Given the description of an element on the screen output the (x, y) to click on. 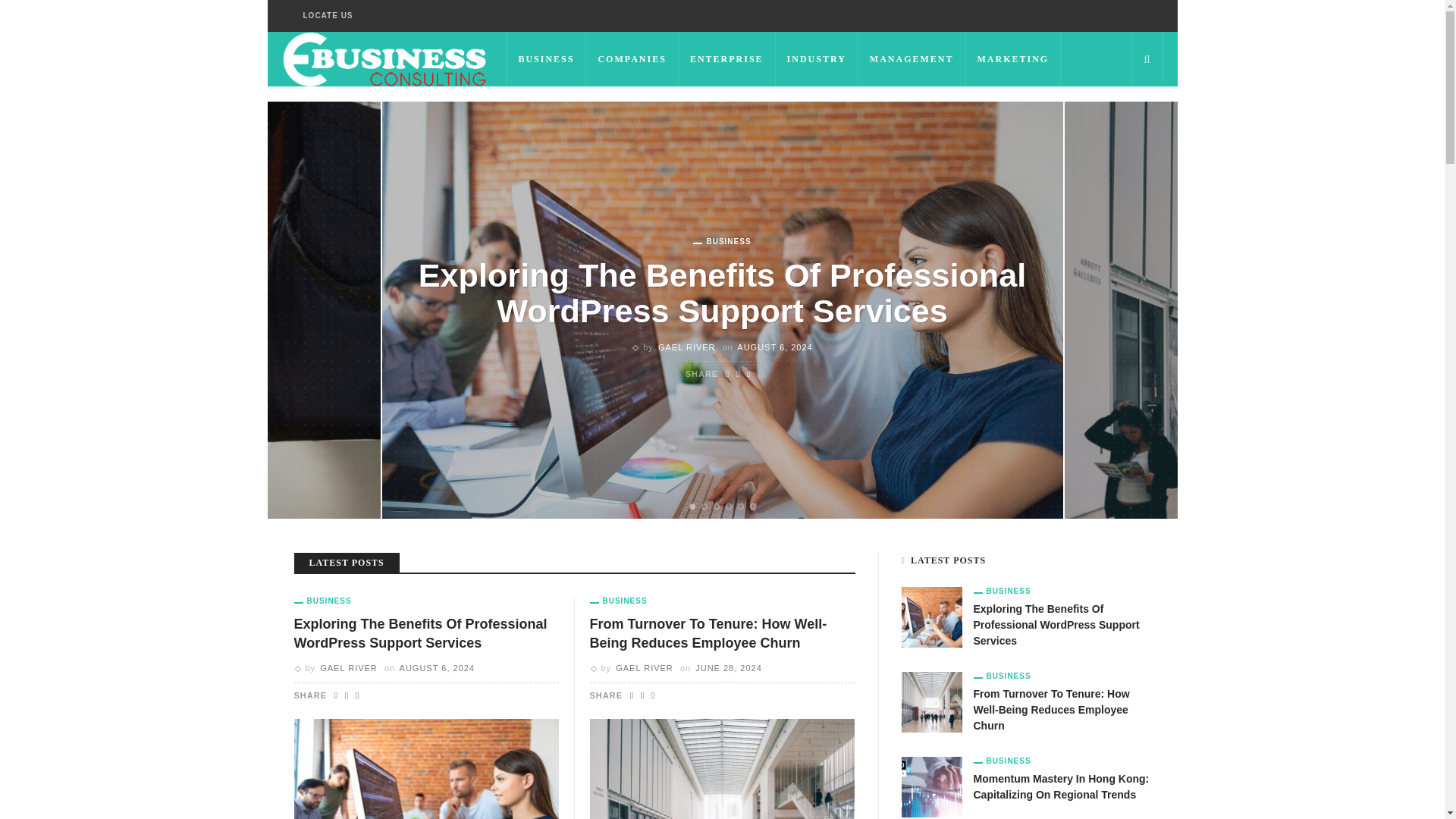
MARKETING (1013, 58)
LOCATE US (328, 15)
BUSINESS (722, 241)
ENTERPRISE (727, 58)
BUSINESS (545, 58)
COMPANIES (632, 58)
Business (722, 241)
GAEL RIVER (687, 347)
